Given the description of an element on the screen output the (x, y) to click on. 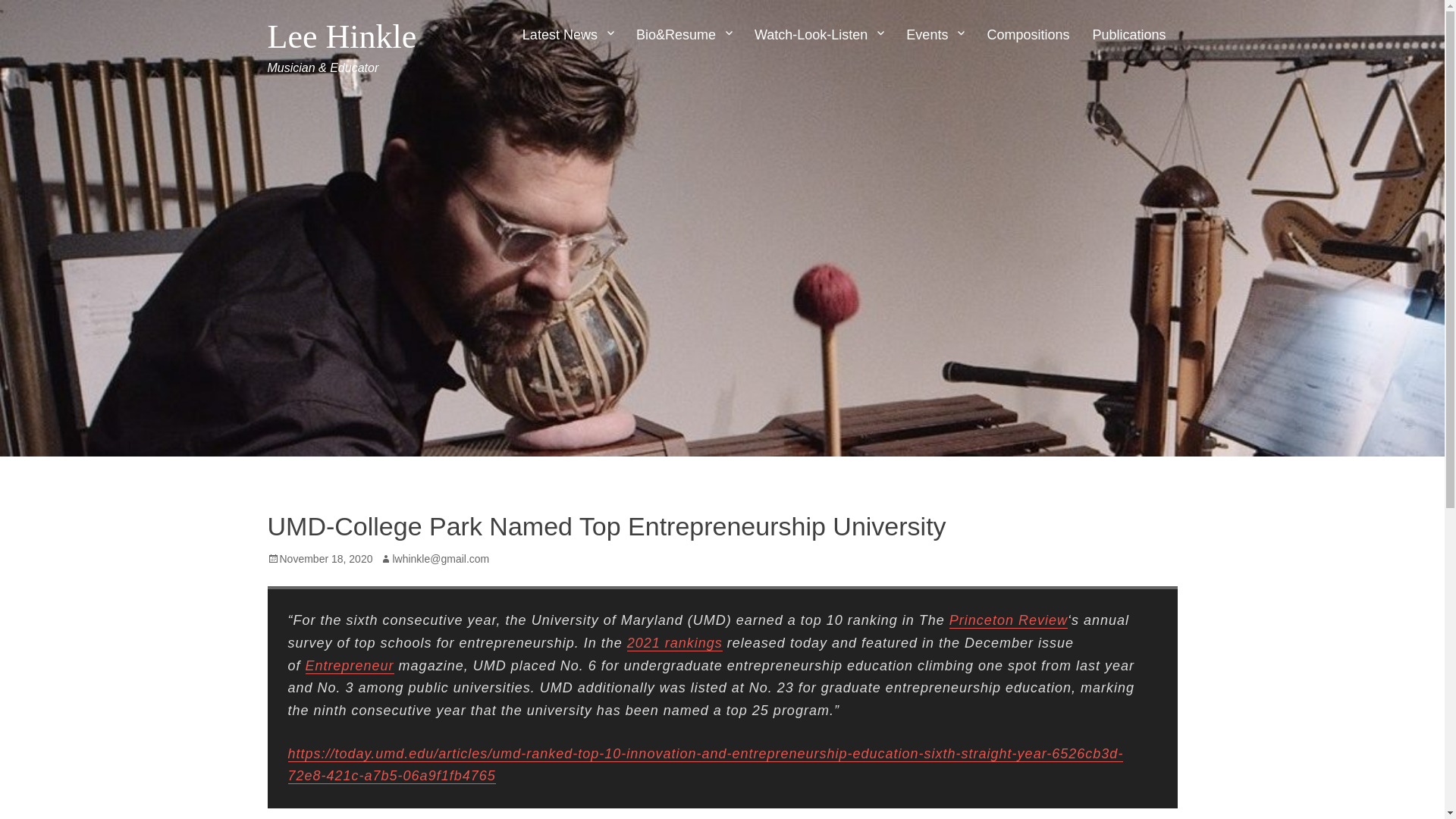
Entrepreneur (349, 665)
Lee Hinkle (341, 36)
Compositions (1027, 35)
Latest News (567, 35)
2021 rankings (674, 642)
November 18, 2020 (319, 558)
Events (935, 35)
Watch-Look-Listen (818, 35)
Publications (1128, 35)
Princeton Review (1008, 620)
